Given the description of an element on the screen output the (x, y) to click on. 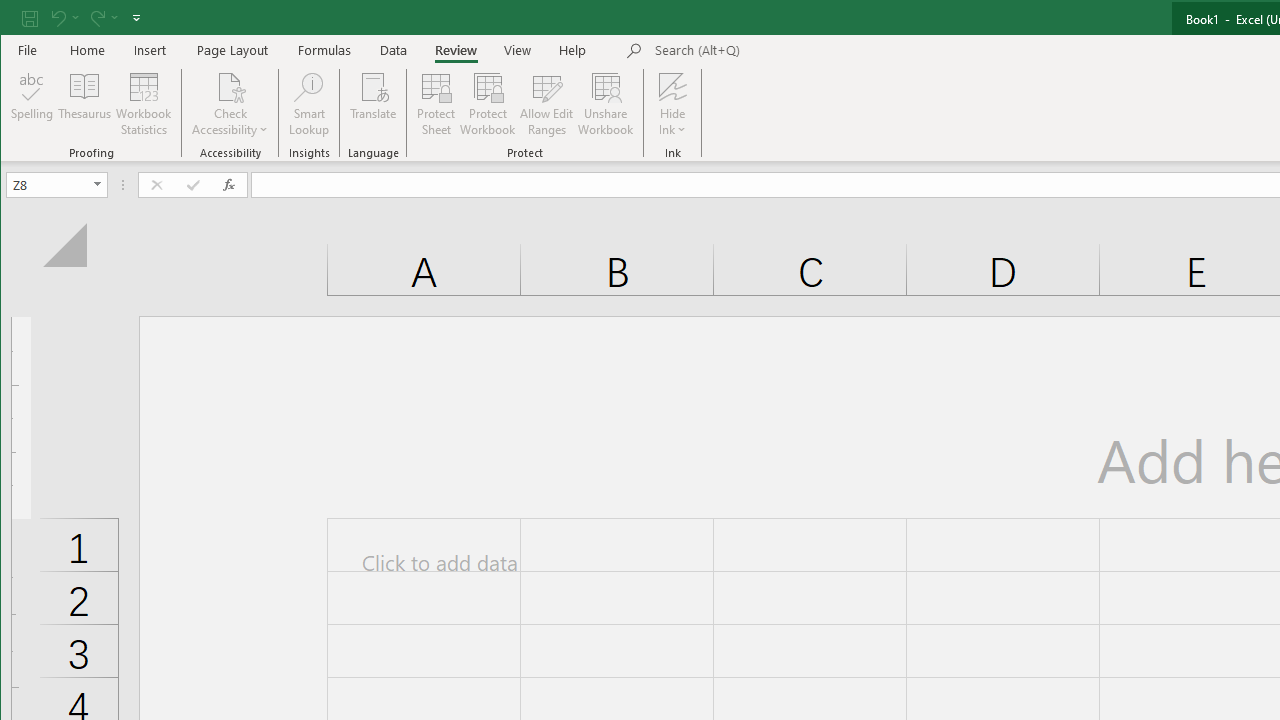
Protect Workbook... (488, 104)
Workbook Statistics (143, 104)
Thesaurus... (84, 104)
Translate (373, 104)
